Given the description of an element on the screen output the (x, y) to click on. 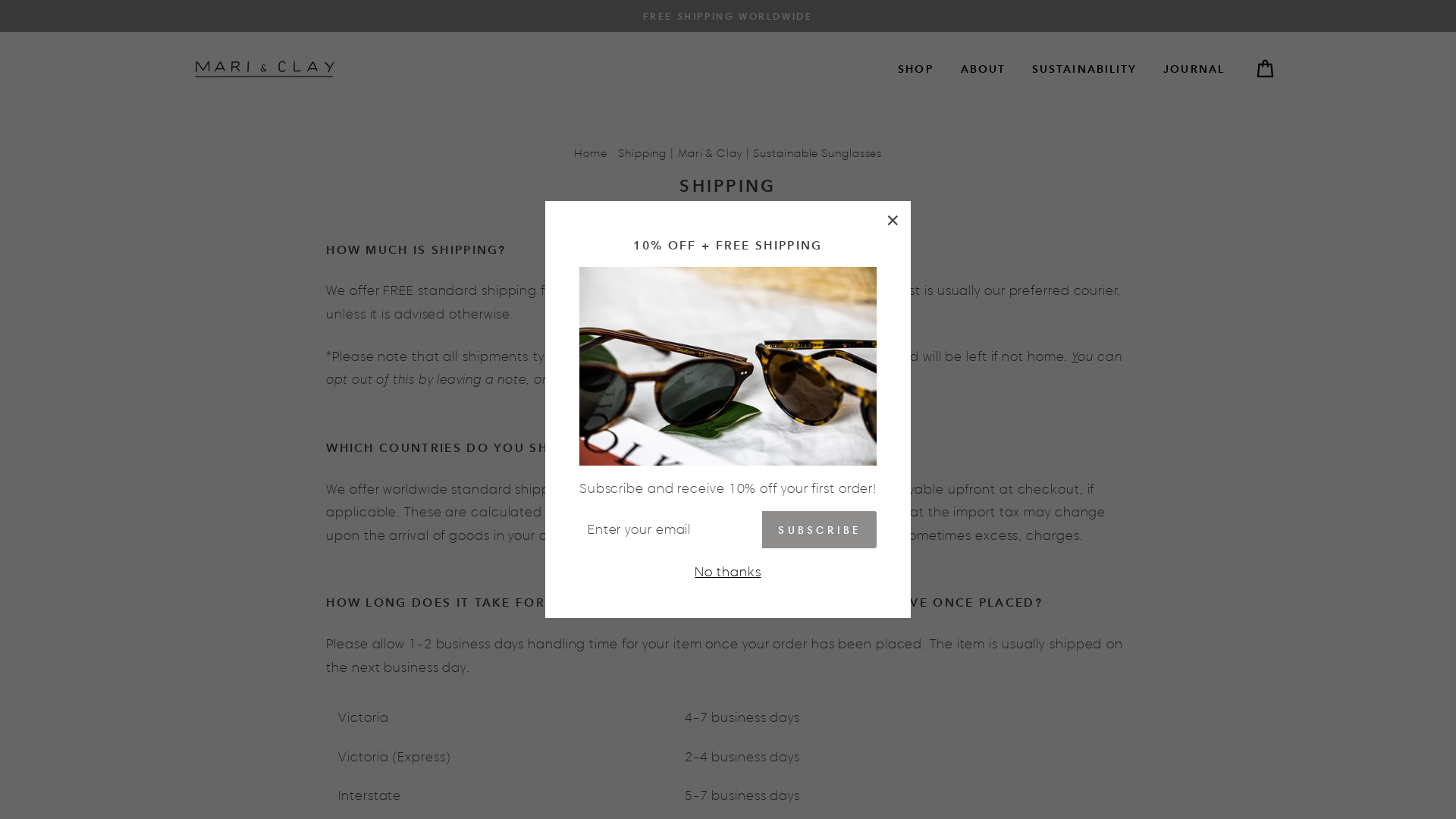
"Close (esc)" Element type: text (892, 219)
SUBSCRIBE Element type: text (819, 529)
JOURNAL Element type: text (1193, 68)
Home Element type: text (591, 153)
SHOP Element type: text (915, 68)
ABOUT Element type: text (983, 68)
No thanks Element type: text (727, 571)
emailing us Element type: text (584, 379)
Cart Element type: text (1264, 69)
SUSTAINABILITY Element type: text (1084, 68)
Skip to content Element type: text (0, 0)
